Given the description of an element on the screen output the (x, y) to click on. 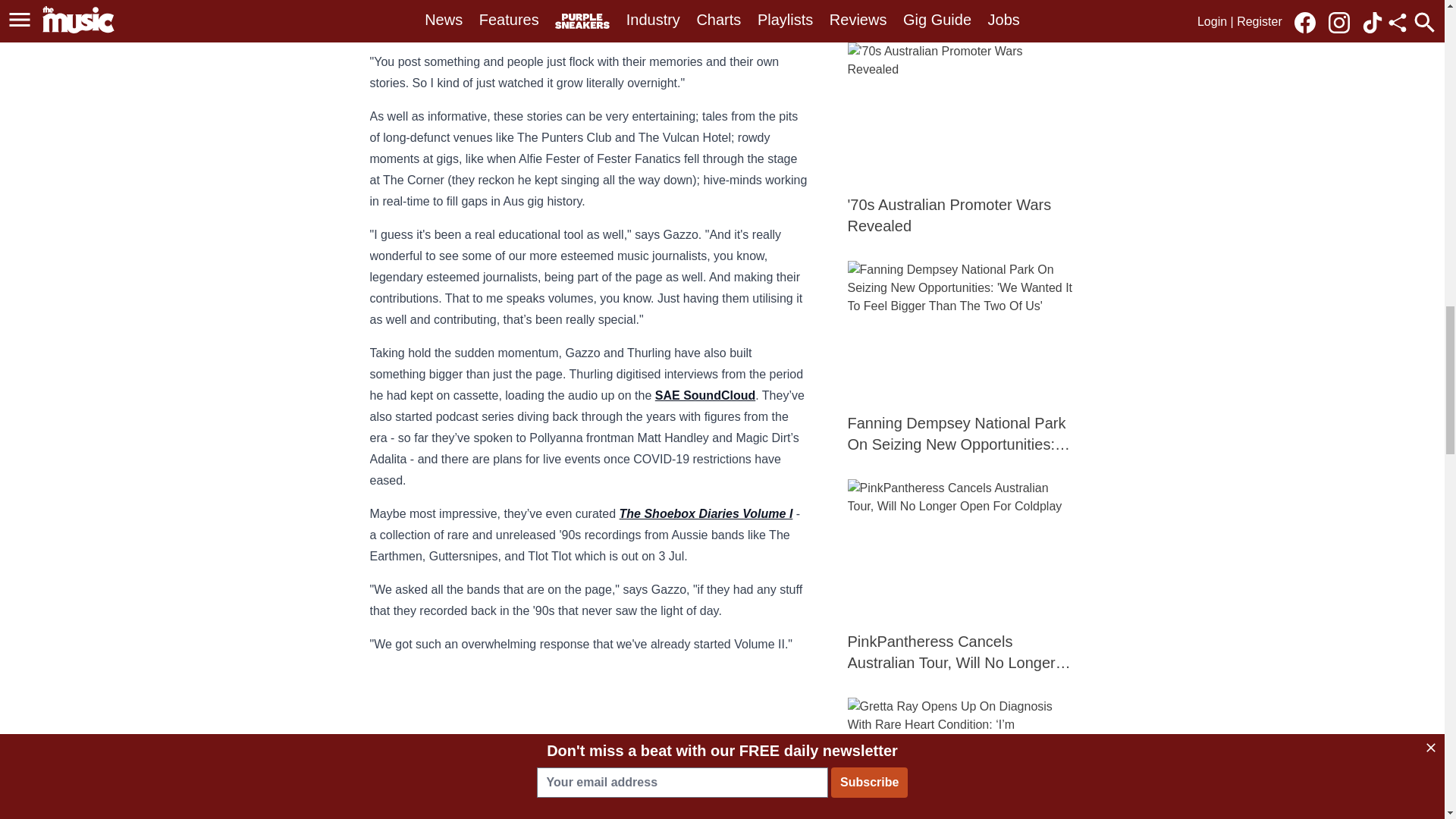
SAE SoundCloud (705, 395)
'70s Australian Promoter Wars Revealed (961, 139)
The Shoebox Diaries Volume I (706, 513)
Travis Scott Adds New Melbourne Date To 2025 Australian Tour (961, 9)
